Given the description of an element on the screen output the (x, y) to click on. 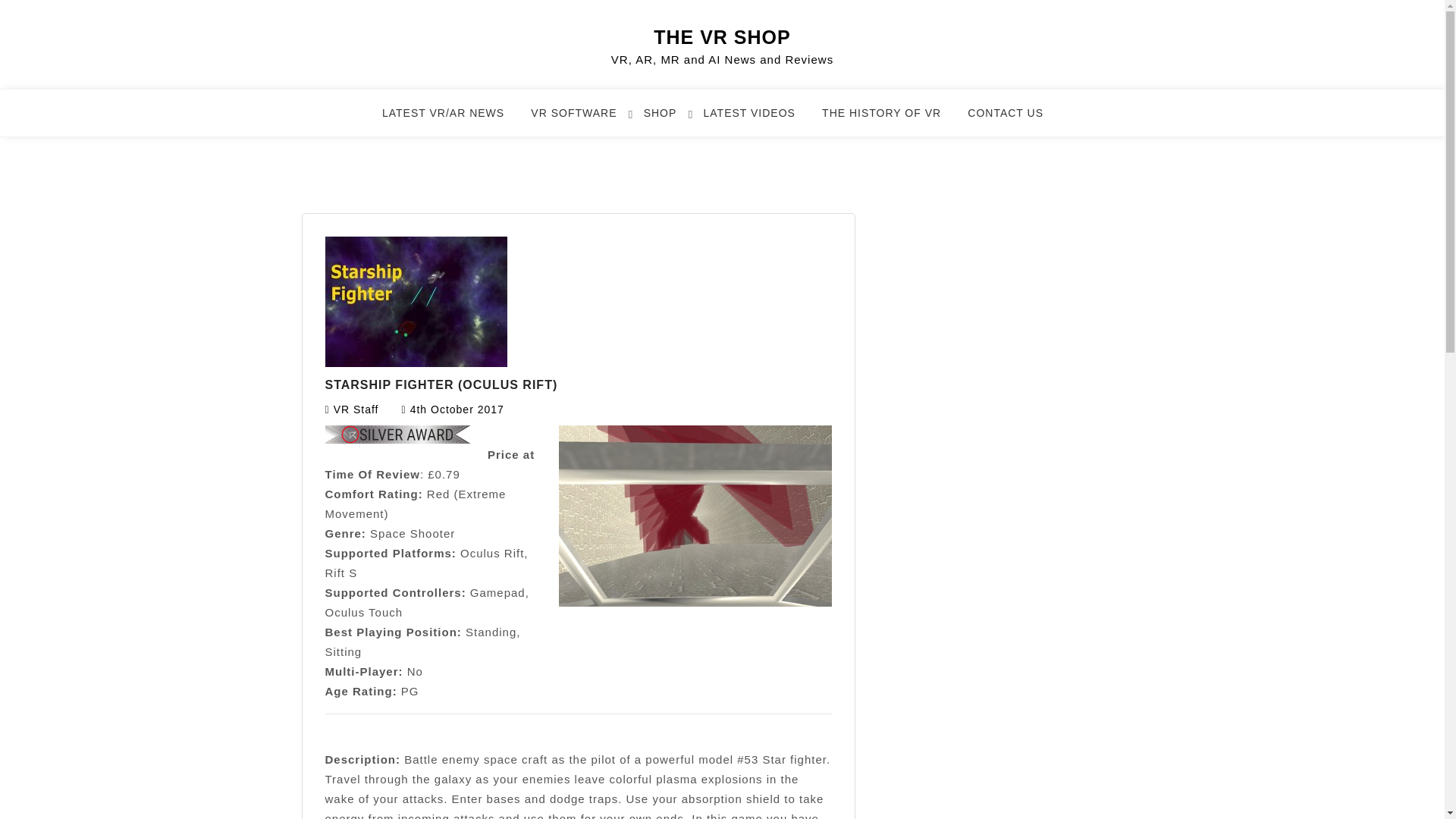
4th October 2017 (456, 409)
THE HISTORY OF VR (890, 119)
VR Staff (355, 409)
CONTACT US (1015, 119)
LATEST VIDEOS (758, 119)
VR SOFTWARE (582, 119)
SHOP (669, 119)
THE VR SHOP (721, 36)
